Given the description of an element on the screen output the (x, y) to click on. 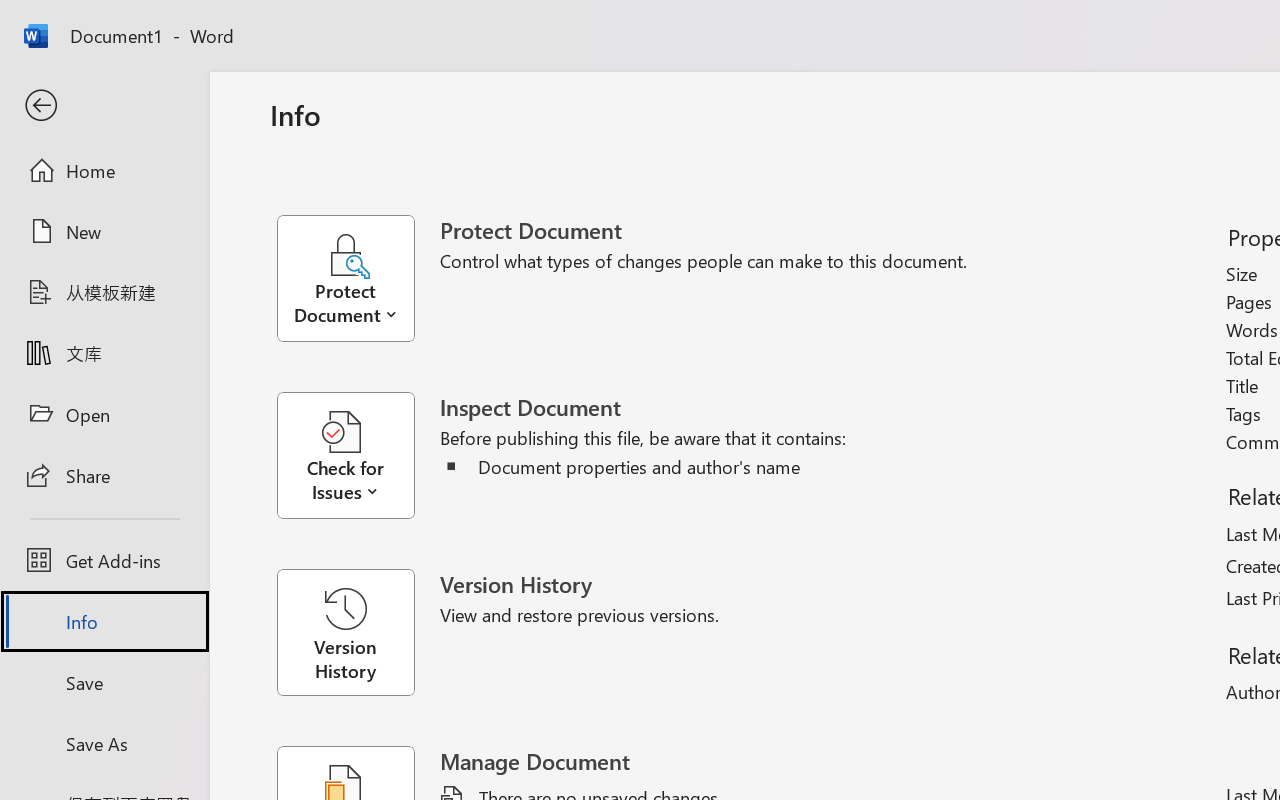
Get Add-ins (104, 560)
Back (104, 106)
Version History (345, 632)
Check for Issues (358, 455)
Info (104, 621)
New (104, 231)
Protect Document (358, 278)
